Given the description of an element on the screen output the (x, y) to click on. 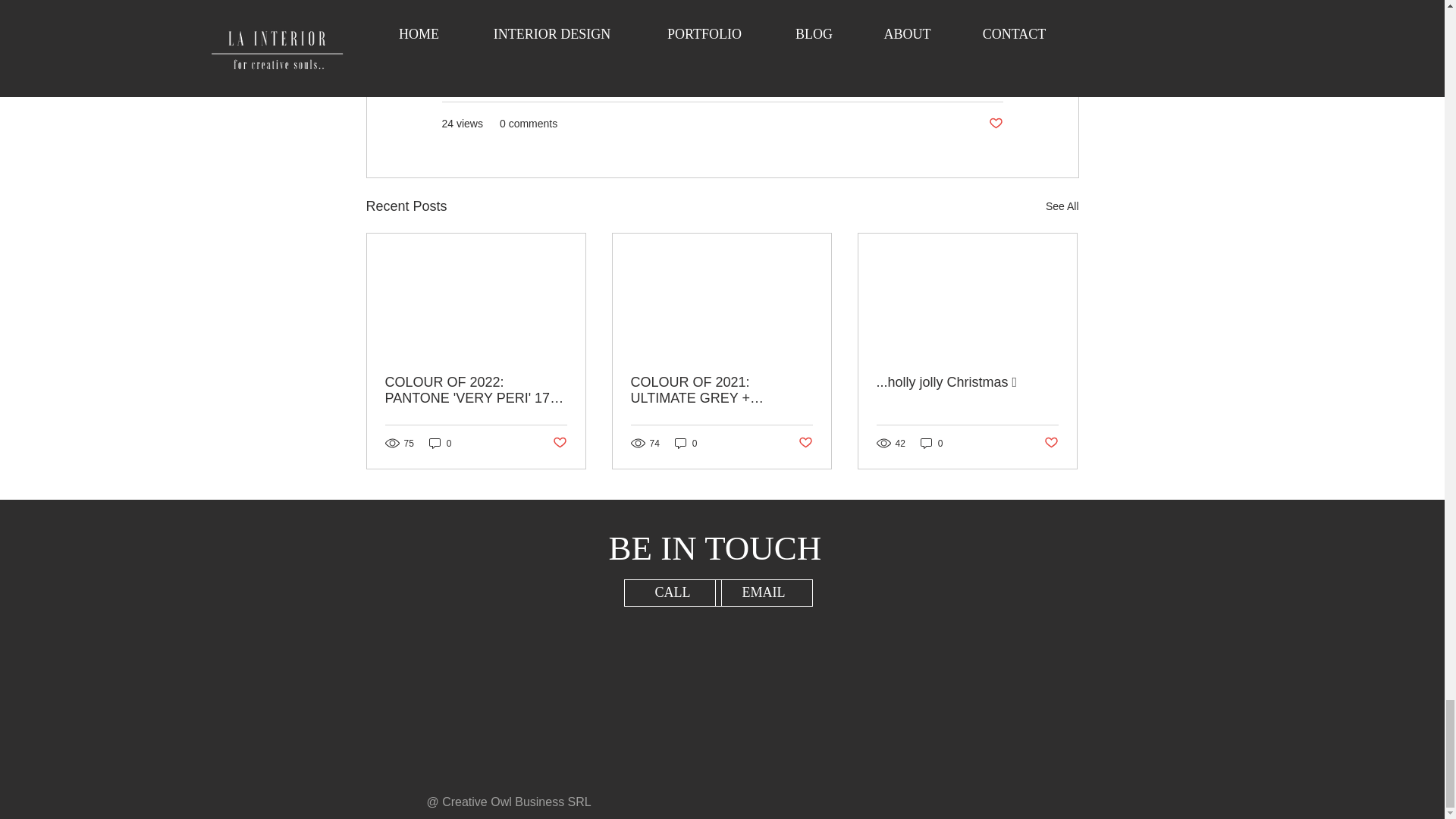
Post not marked as liked (995, 123)
See All (1061, 206)
0 (440, 442)
Post not marked as liked (558, 442)
0 (685, 442)
